Given the description of an element on the screen output the (x, y) to click on. 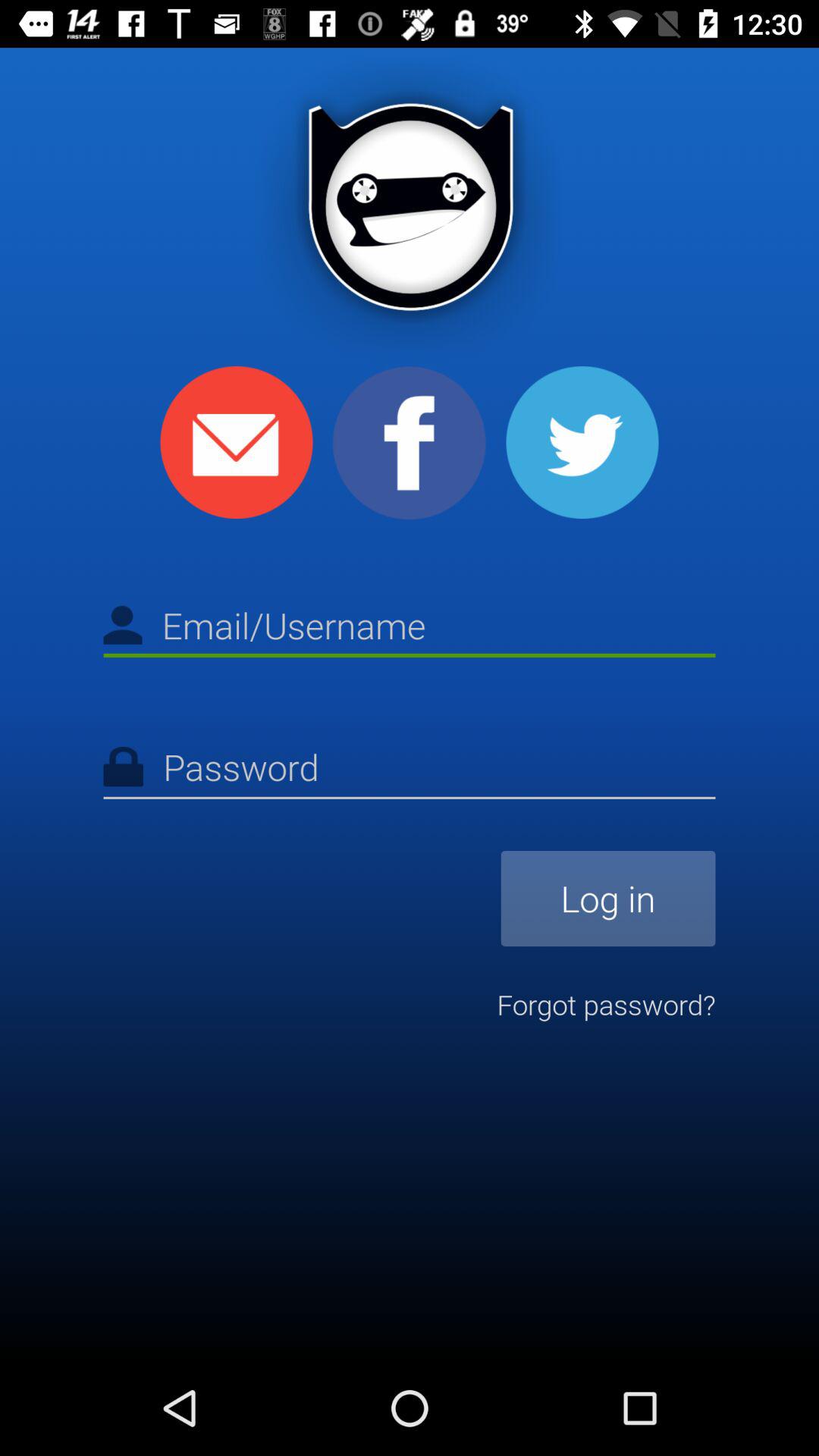
enter user name (409, 628)
